Given the description of an element on the screen output the (x, y) to click on. 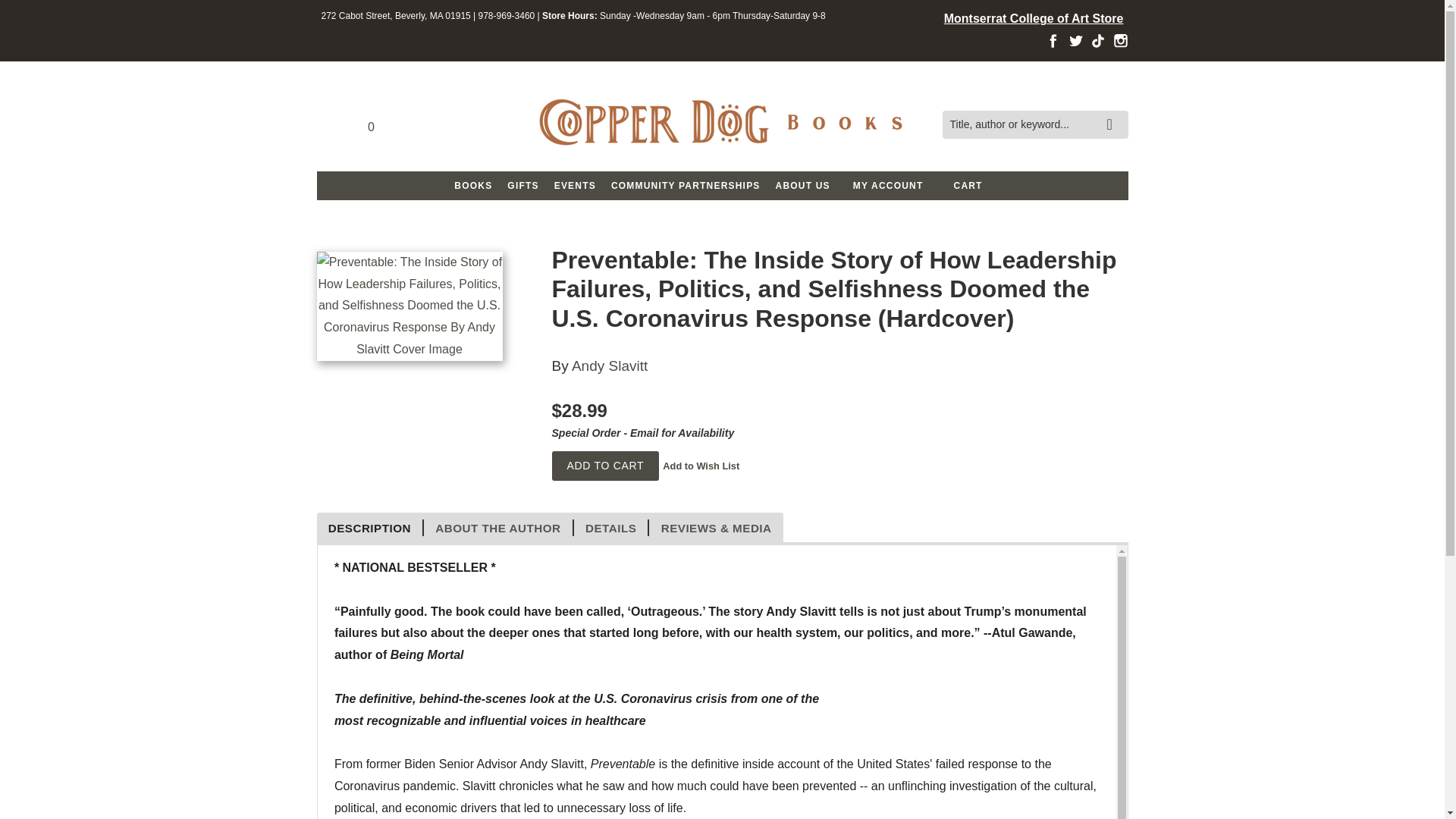
Montserrat College of Art Store (1033, 19)
BOOKS (472, 185)
search (1112, 113)
Title, author or keyword... (1034, 124)
Home (721, 124)
Add to Cart (605, 465)
search (1112, 113)
